Given the description of an element on the screen output the (x, y) to click on. 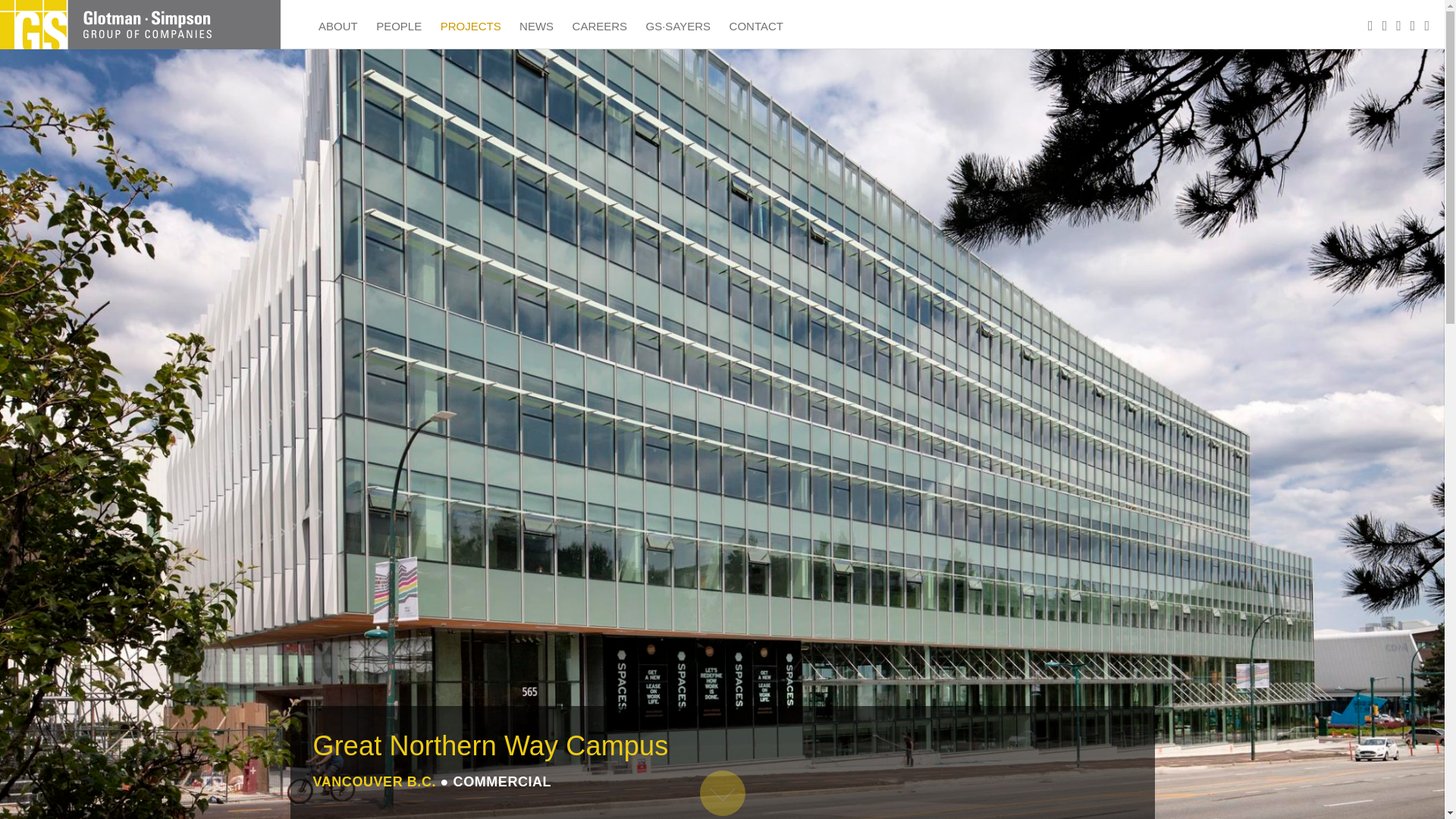
NEWS (536, 24)
CONTACT (756, 24)
ABOUT (338, 24)
PEOPLE (398, 24)
PROJECTS (470, 24)
CAREERS (599, 24)
